Given the description of an element on the screen output the (x, y) to click on. 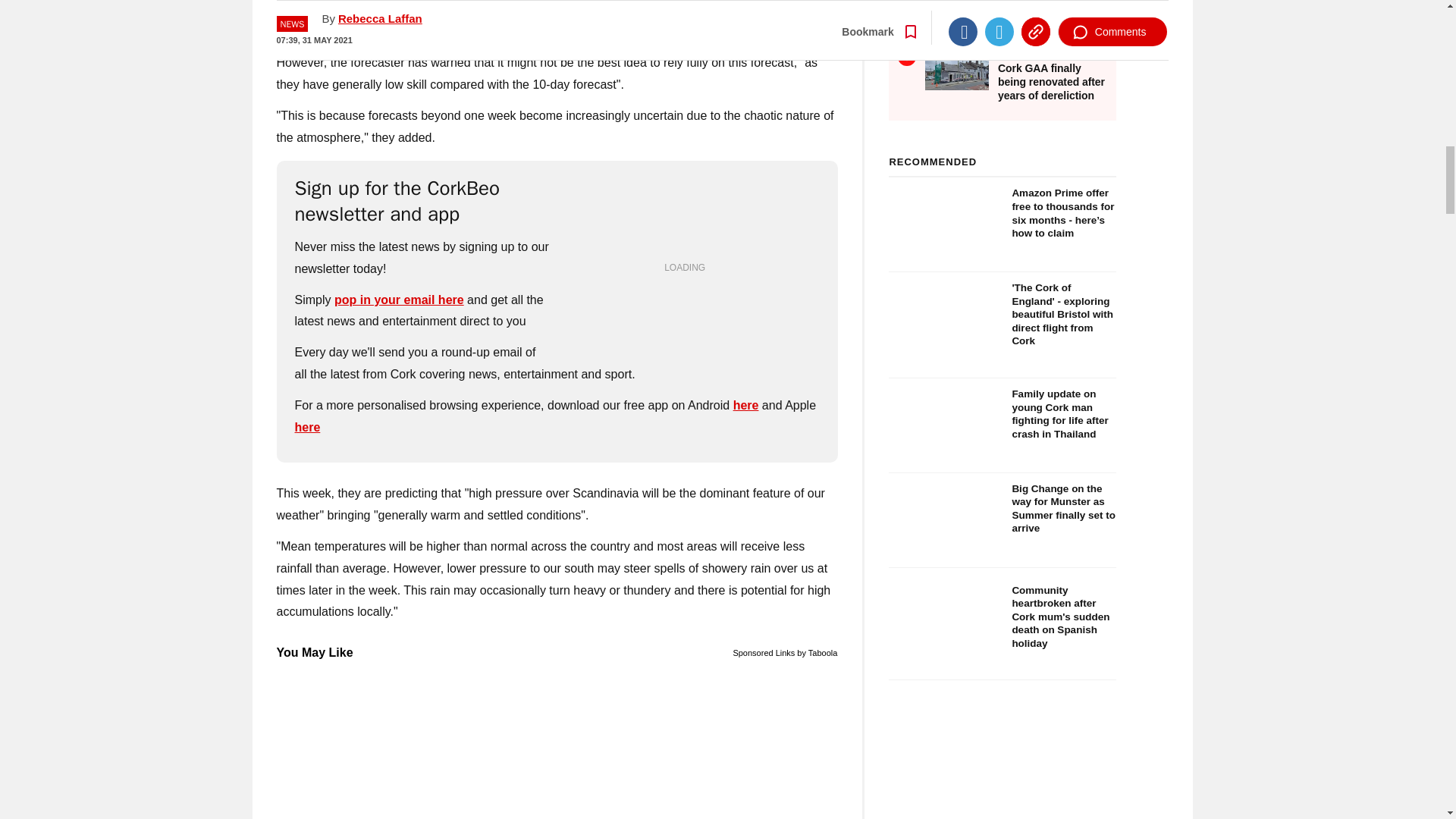
Pierce Brosnan's Wife Lost 120 Pounds - This Is Her Now (557, 25)
